Given the description of an element on the screen output the (x, y) to click on. 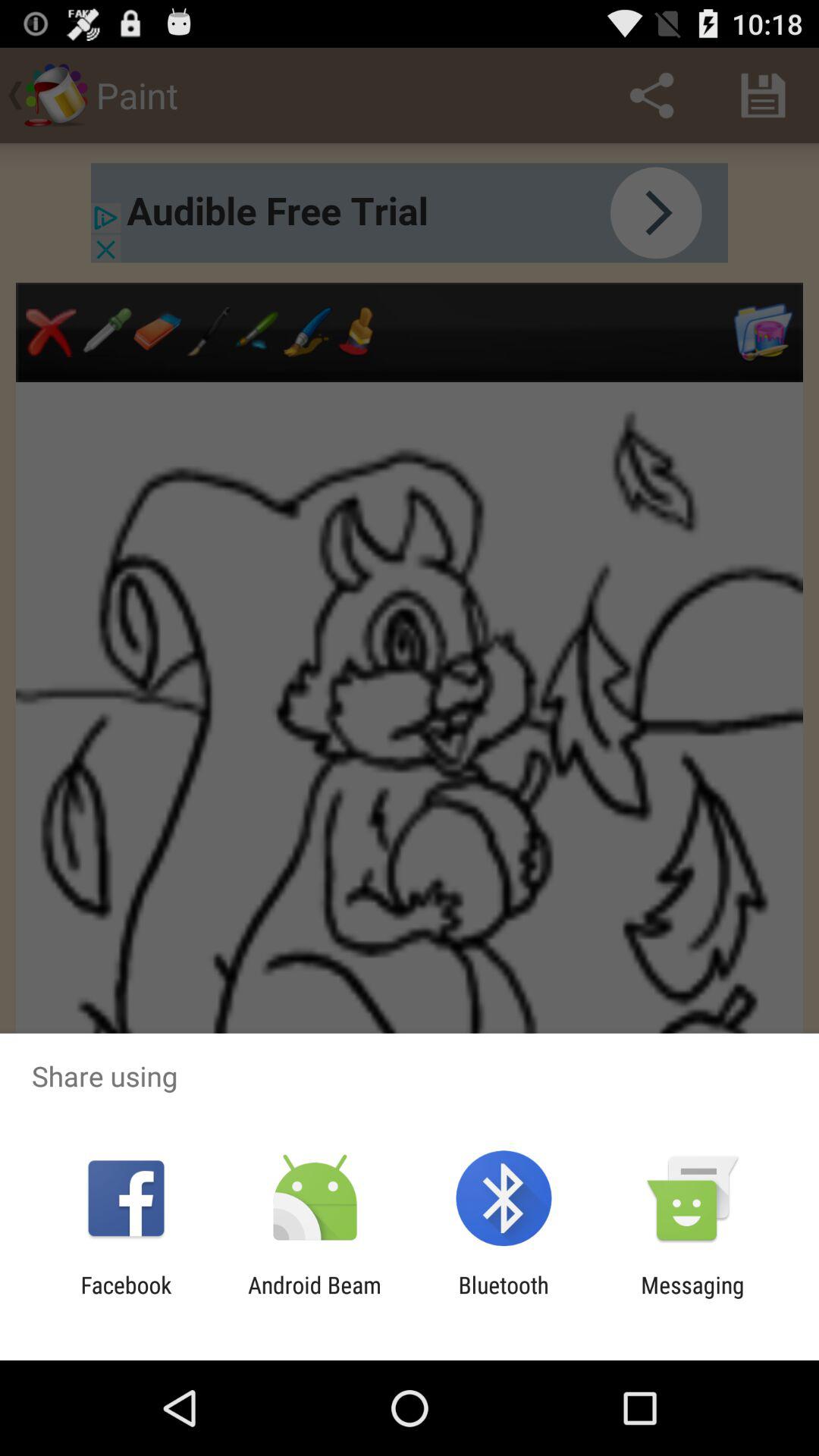
turn off the app to the left of the bluetooth app (314, 1298)
